Given the description of an element on the screen output the (x, y) to click on. 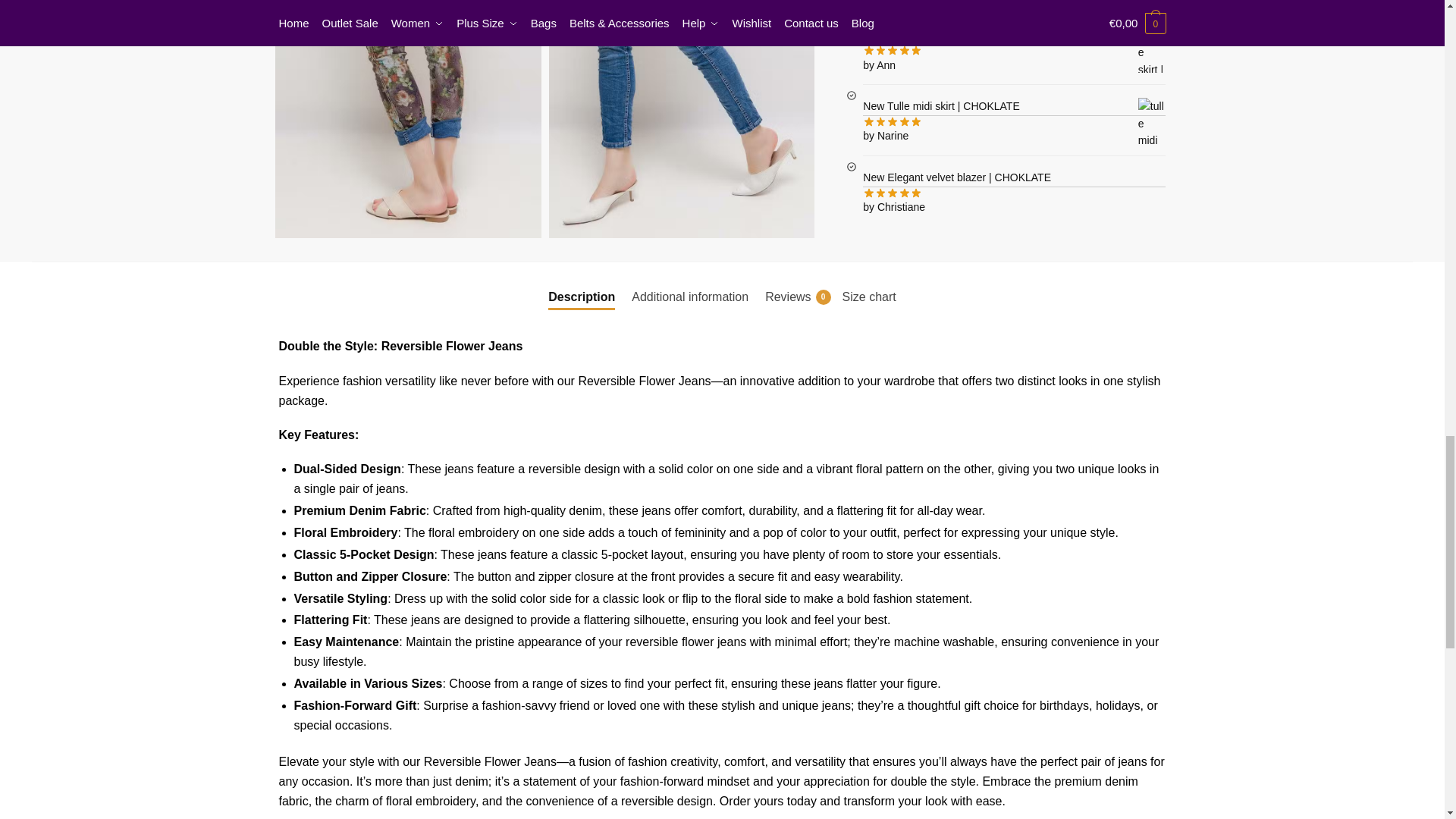
click to zoom-in (681, 119)
click to zoom-in (408, 119)
